Given the description of an element on the screen output the (x, y) to click on. 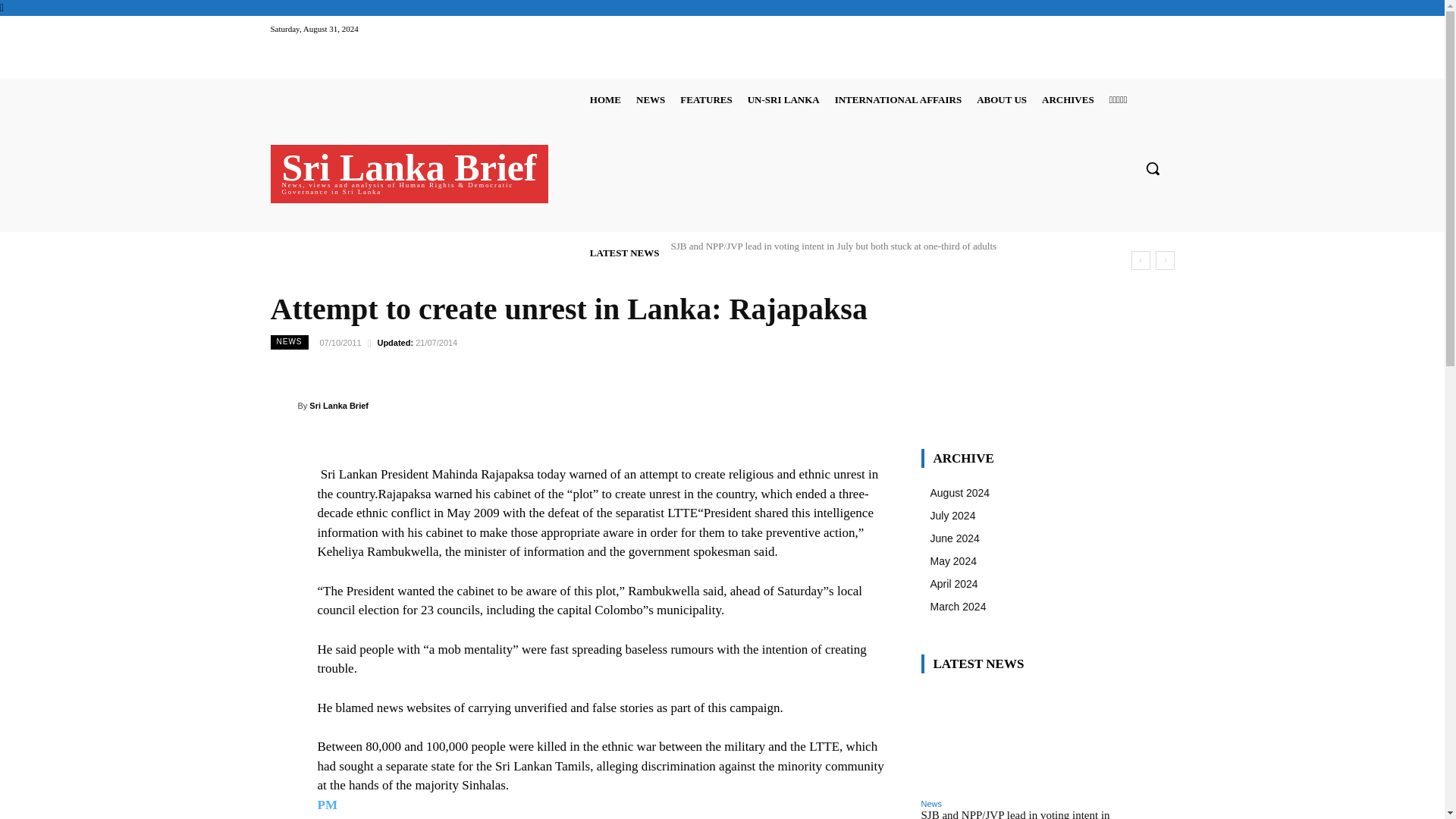
Sri Lanka Brief (283, 404)
HOME (605, 99)
UN-SRI LANKA (783, 99)
INTERNATIONAL AFFAIRS (898, 99)
NEWS (650, 99)
FEATURES (706, 99)
ARCHIVES (1067, 99)
ABOUT US (1001, 99)
